Given the description of an element on the screen output the (x, y) to click on. 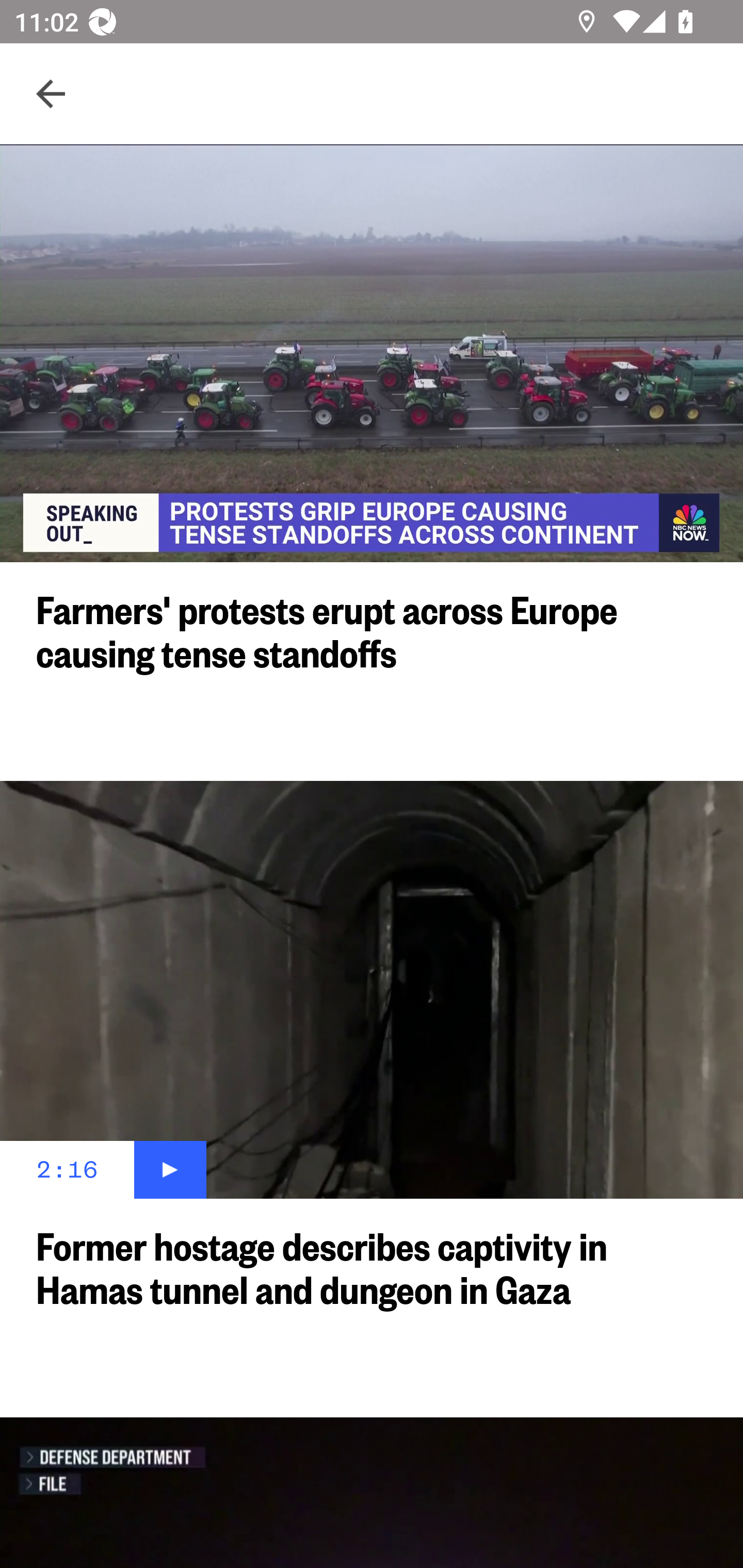
Navigate up (50, 93)
